Given the description of an element on the screen output the (x, y) to click on. 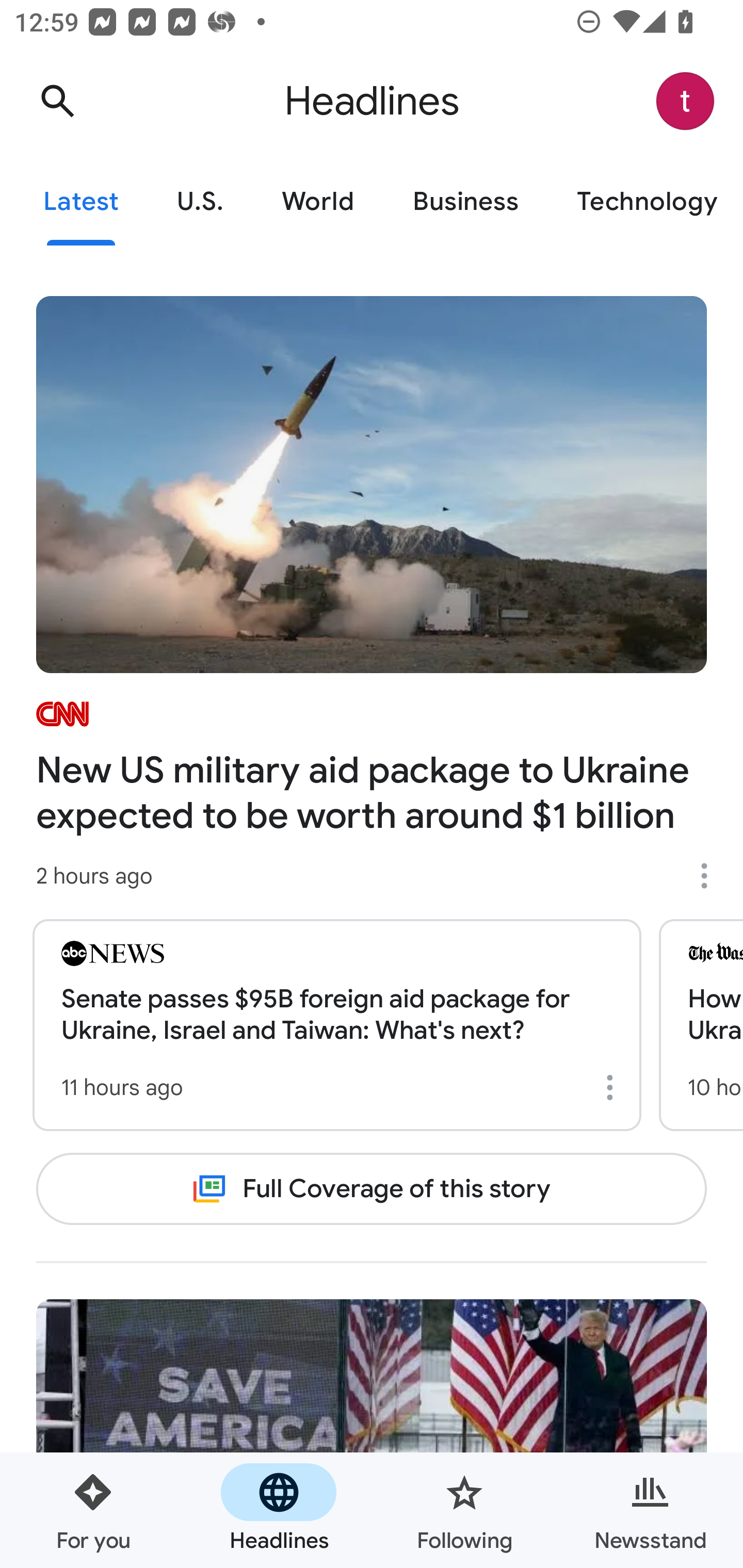
Search (57, 100)
U.S. (199, 202)
World (317, 202)
Business (465, 202)
Technology (645, 202)
More options (711, 875)
More options (613, 1086)
Full Coverage of this story (371, 1188)
For you (92, 1509)
Headlines (278, 1509)
Following (464, 1509)
Newsstand (650, 1509)
